Given the description of an element on the screen output the (x, y) to click on. 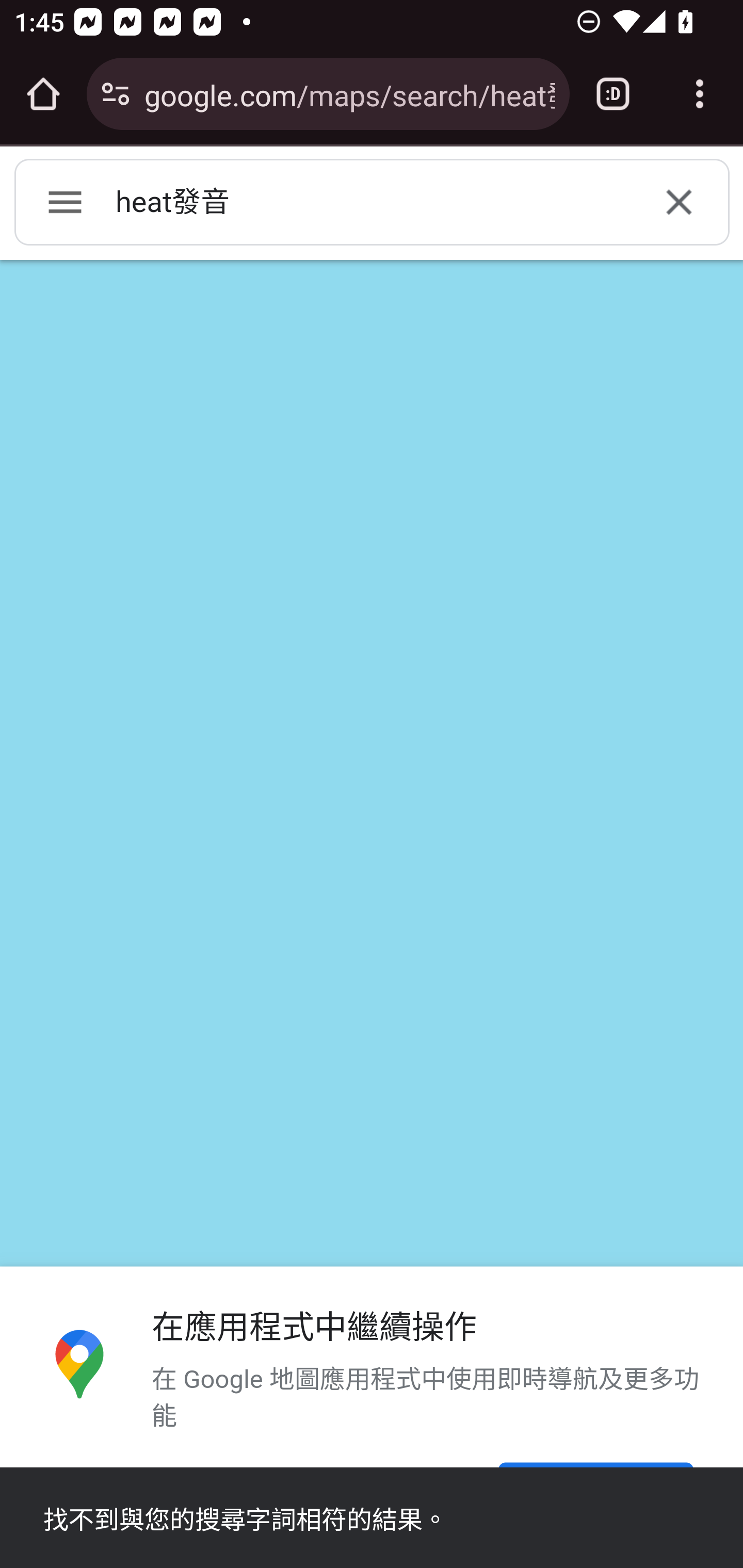
Open the home page (43, 93)
Connection is secure (115, 93)
Switch or close tabs (612, 93)
Customize and control Google Chrome (699, 93)
google.com/maps/search/heat發音/@0,0,22z?source=lnms (349, 92)
